Given the description of an element on the screen output the (x, y) to click on. 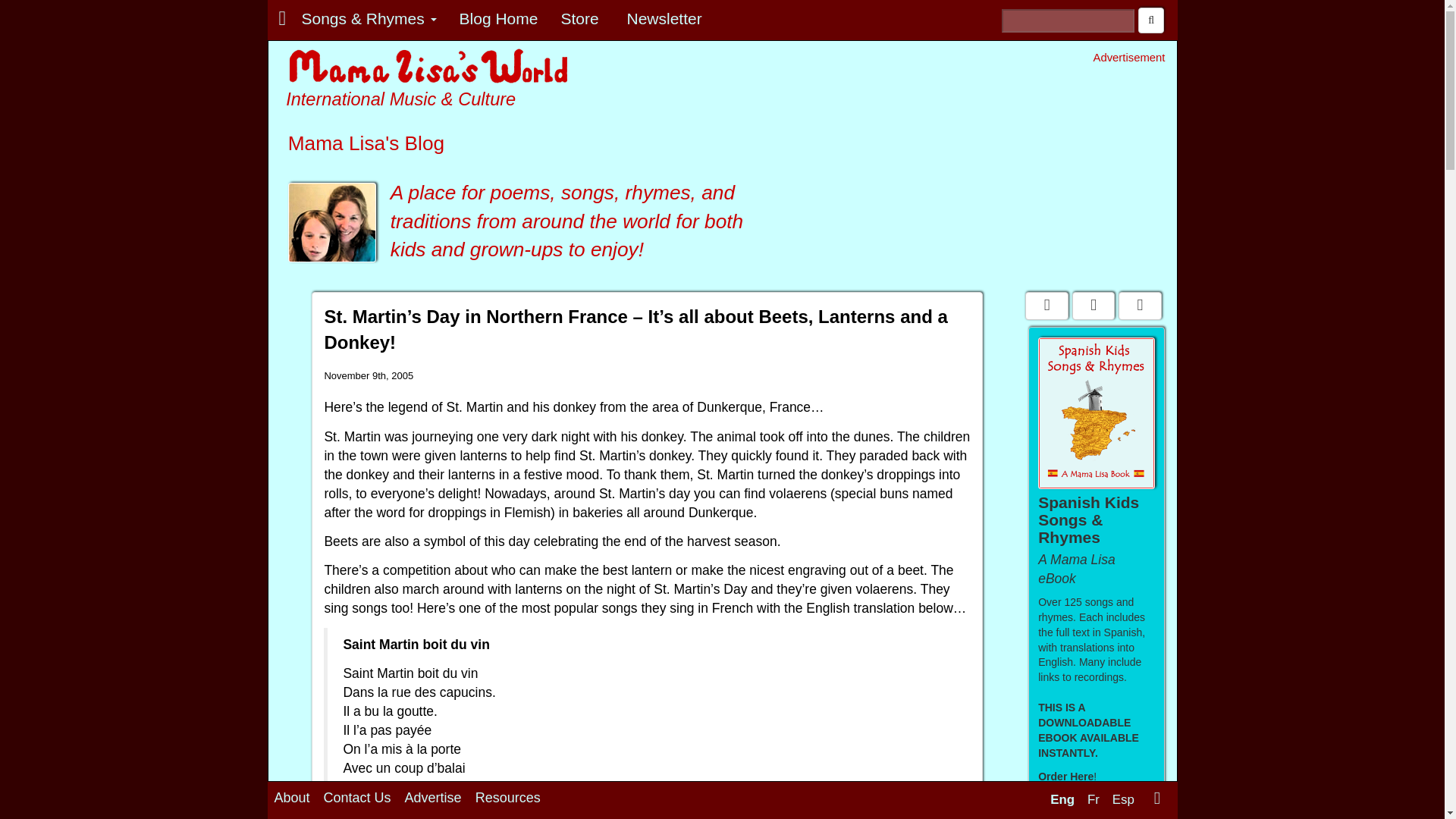
Mama Lisa's World (429, 66)
Advertisement (1037, 172)
Blog Home (499, 18)
Mama Lisa's Blog (331, 222)
